Given the description of an element on the screen output the (x, y) to click on. 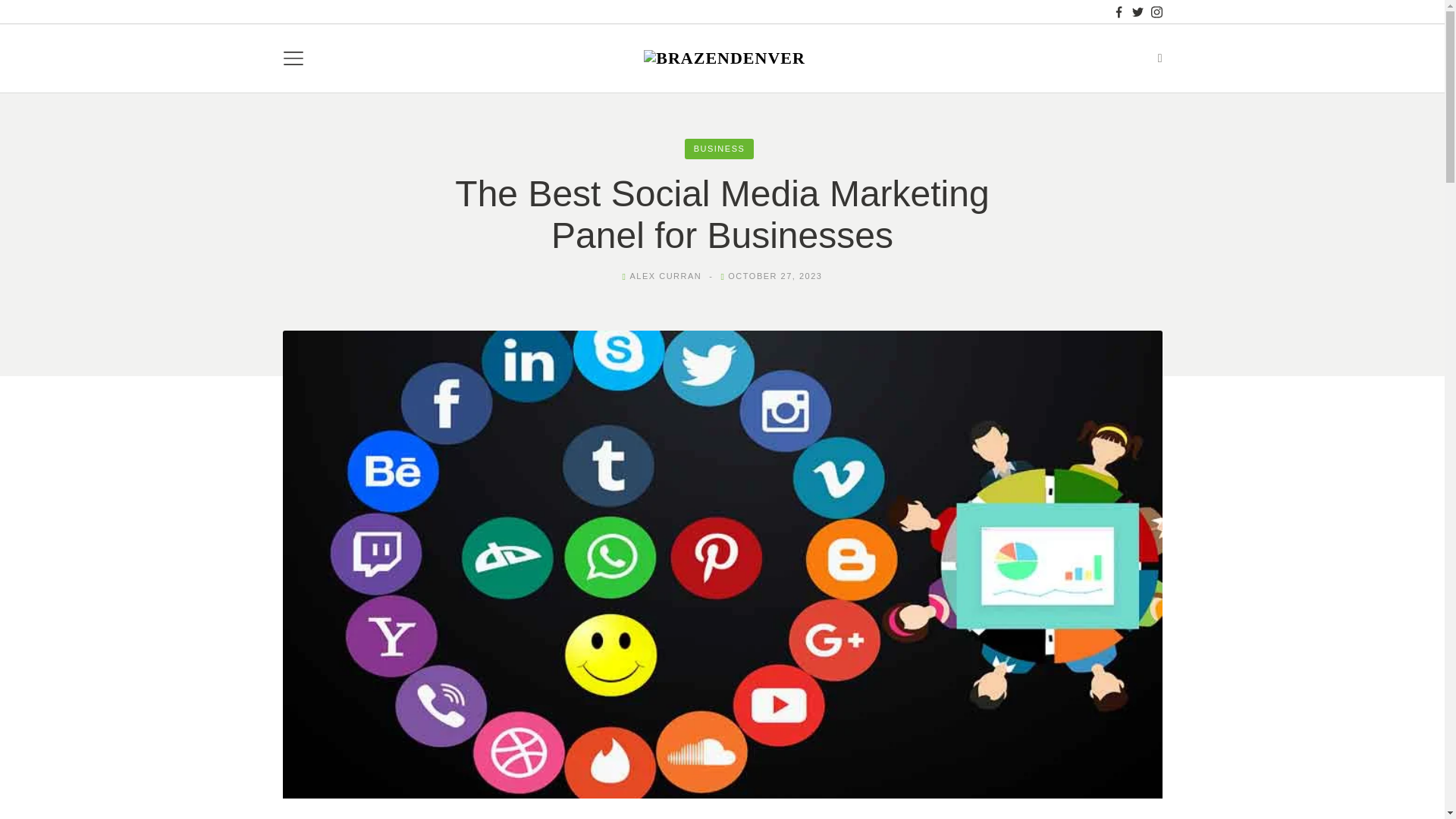
ALEX CURRAN (664, 275)
OCTOBER 27, 2023 (775, 275)
BUSINESS (719, 148)
